Given the description of an element on the screen output the (x, y) to click on. 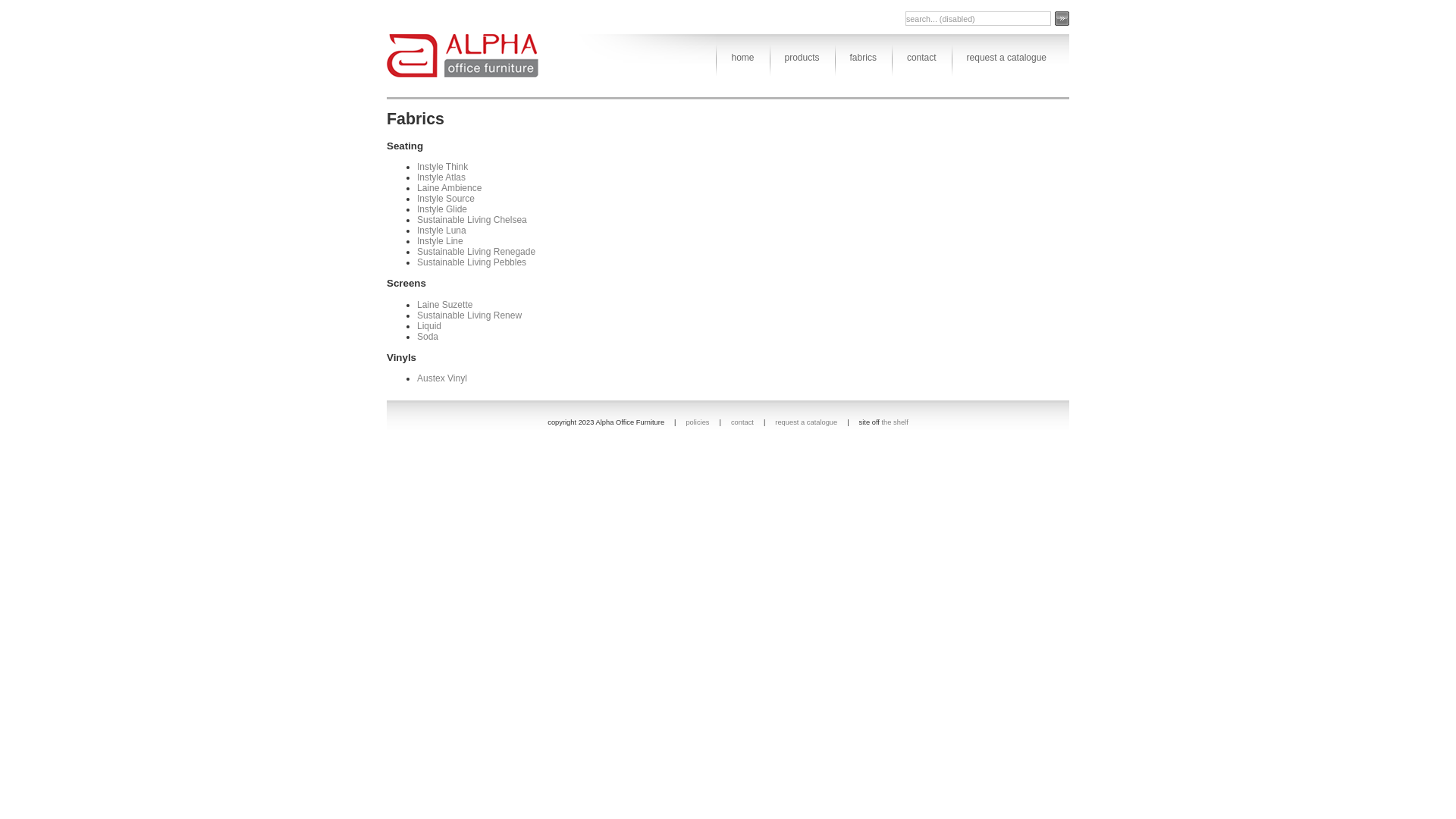
Sustainable Living Renew Element type: text (469, 315)
the shelf Element type: text (894, 422)
fabrics Element type: text (863, 57)
policies Element type: text (697, 422)
Instyle Glide Element type: text (442, 208)
request a catalogue Element type: text (1006, 57)
home Element type: text (742, 57)
Sustainable Living Chelsea Element type: text (472, 219)
contact Element type: text (921, 57)
products Element type: text (801, 57)
contact Element type: text (742, 422)
Sustainable Living Renegade Element type: text (476, 251)
request a catalogue Element type: text (806, 422)
Alpha Office Furniture Element type: hover (462, 55)
Austex Vinyl Element type: text (442, 378)
Search Element type: hover (1061, 18)
Soda Element type: text (427, 336)
Liquid Element type: text (429, 325)
Laine Suzette Element type: text (444, 304)
Instyle Luna Element type: text (441, 230)
Instyle Source Element type: text (445, 198)
Instyle Think Element type: text (442, 166)
Laine Ambience Element type: text (449, 187)
Sustainable Living Pebbles Element type: text (471, 262)
Instyle Atlas Element type: text (441, 177)
Instyle Line Element type: text (440, 240)
